Given the description of an element on the screen output the (x, y) to click on. 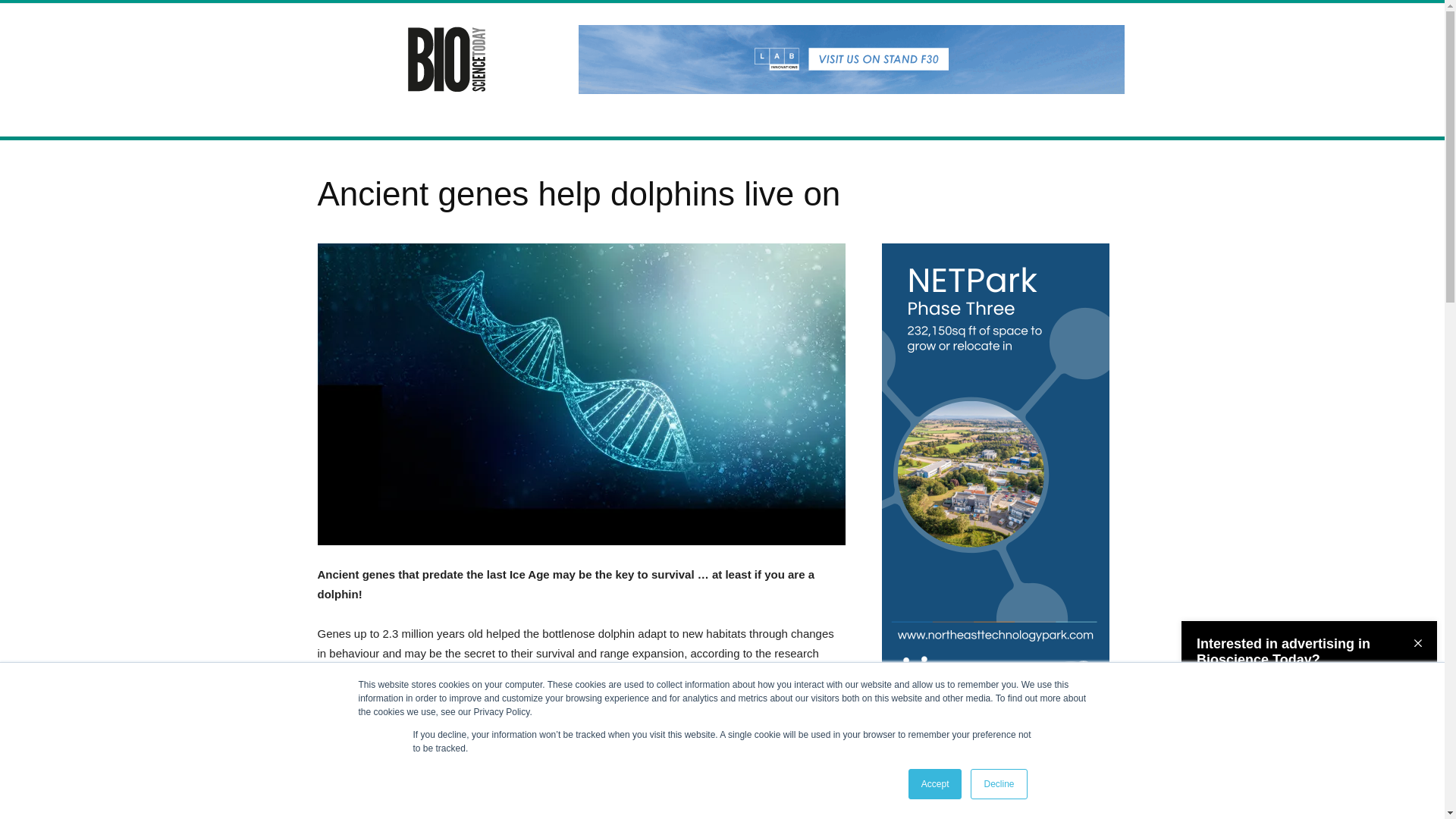
Decline (998, 784)
Accept (935, 784)
